Given the description of an element on the screen output the (x, y) to click on. 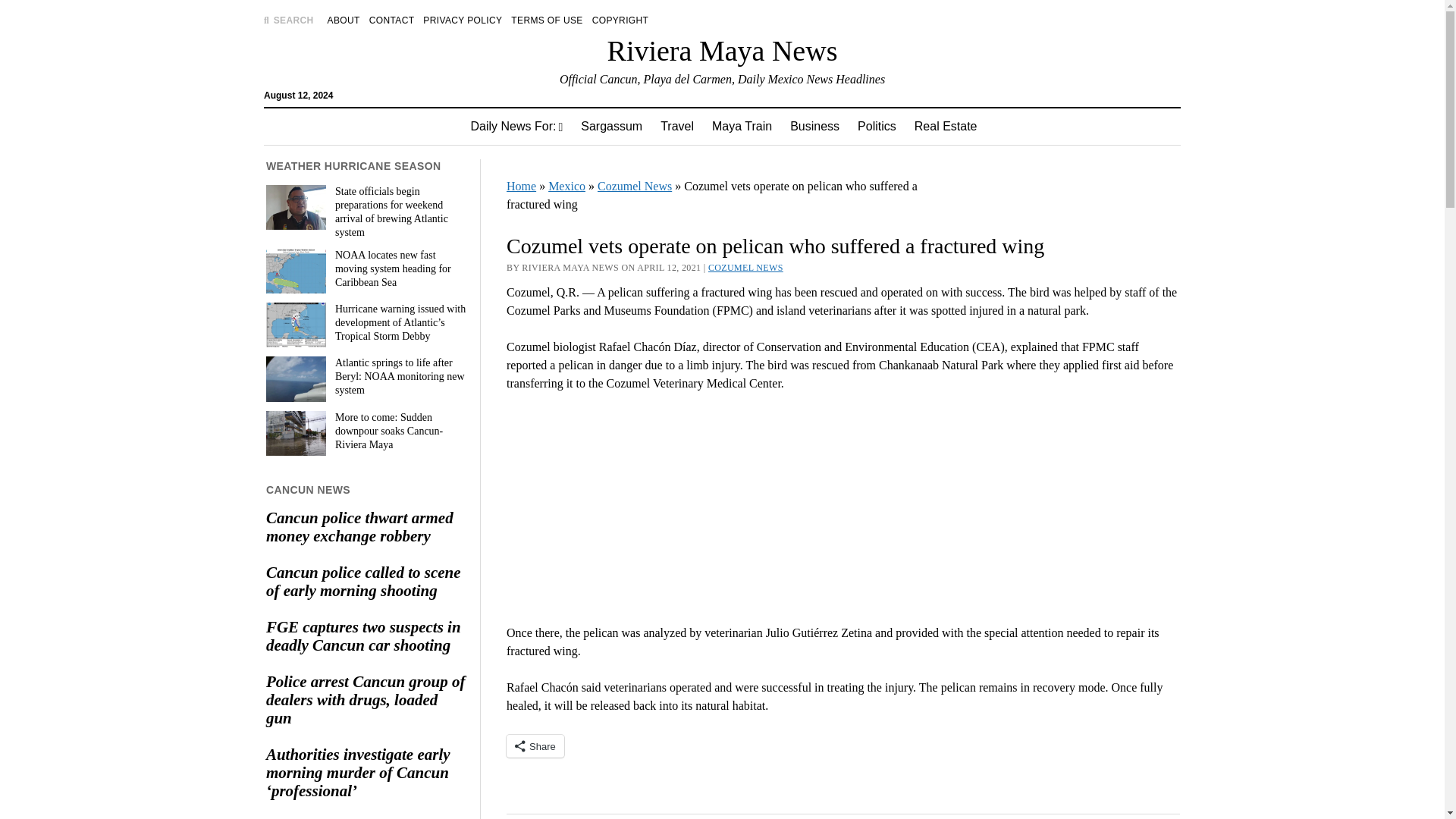
Travel (676, 126)
Daily News For: (516, 126)
CONTACT (391, 20)
Maya Train (741, 126)
TERMS OF USE (546, 20)
COPYRIGHT (620, 20)
Riviera Maya News (722, 50)
SEARCH (288, 20)
Sargassum (611, 126)
PRIVACY POLICY (462, 20)
